Given the description of an element on the screen output the (x, y) to click on. 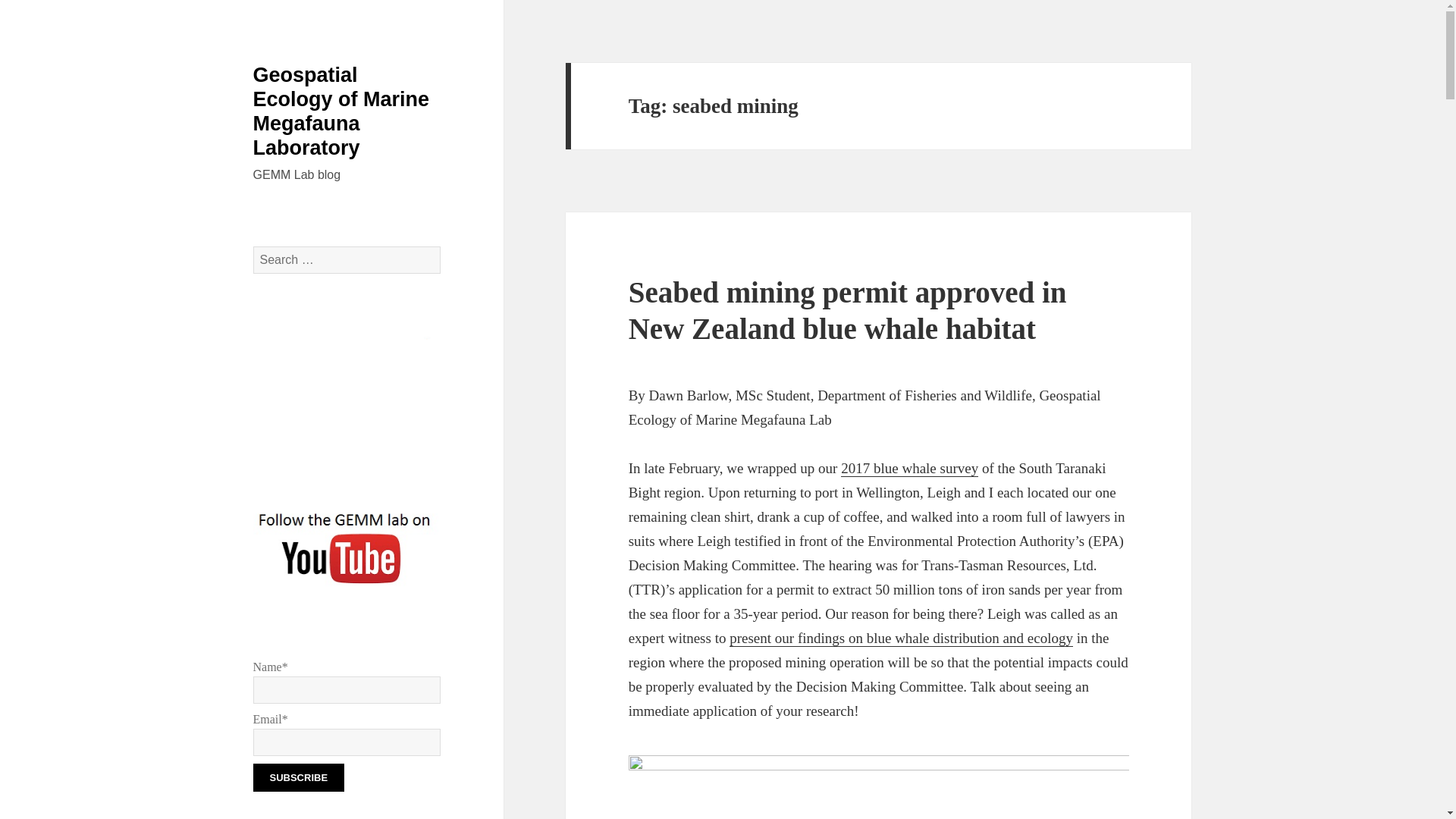
Geospatial Ecology of Marine Megafauna Laboratory (341, 110)
Subscribe (299, 777)
Subscribe (299, 777)
